Given the description of an element on the screen output the (x, y) to click on. 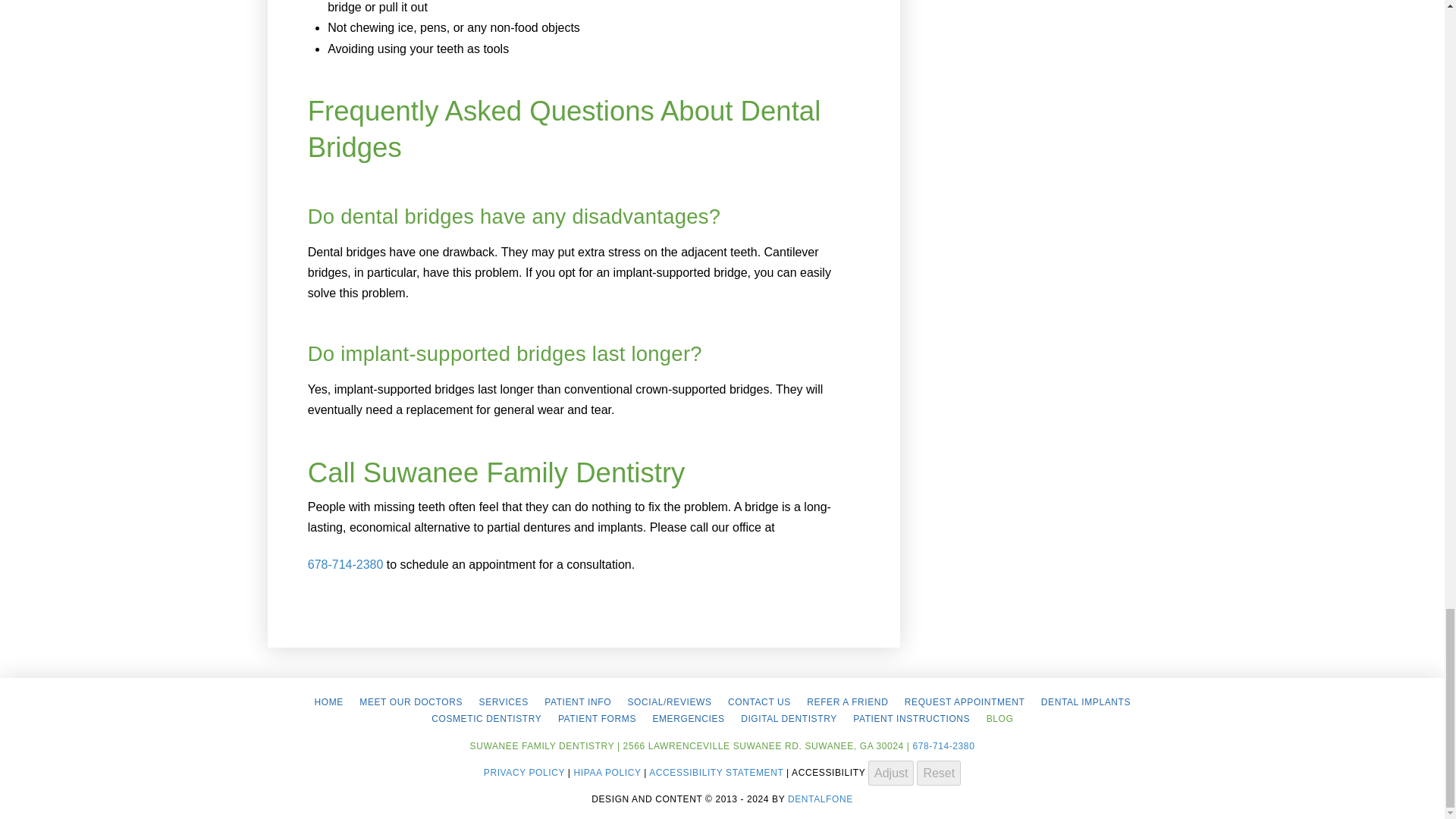
Phone Number (345, 563)
Contact Our Office (758, 701)
Phone Number (943, 746)
